Given the description of an element on the screen output the (x, y) to click on. 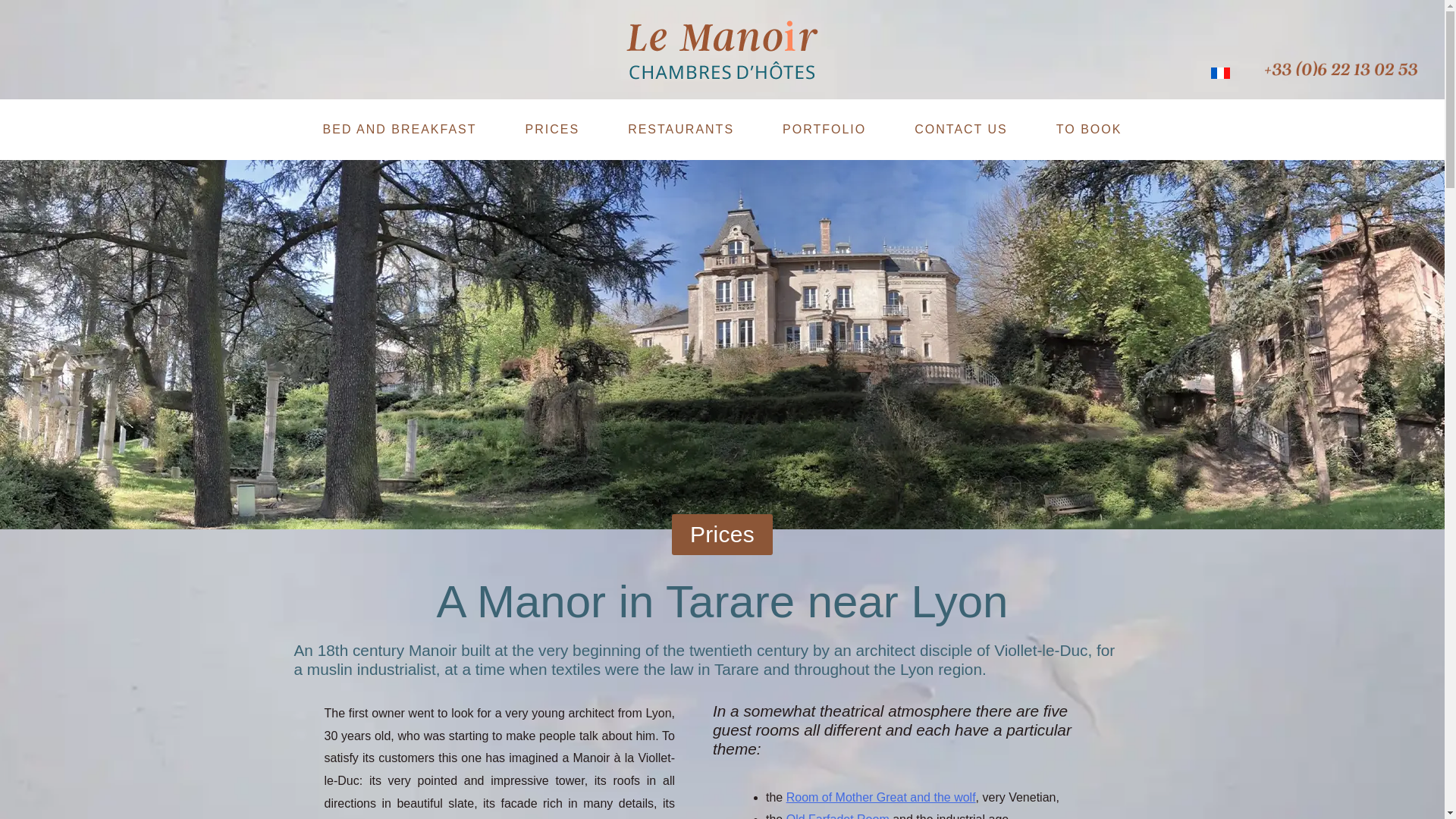
PRICES (552, 129)
Prices (722, 534)
RESTAURANTS (681, 129)
BED AND BREAKFAST (399, 129)
Room of Mother Great and the wolf (880, 797)
CONTACT US (960, 129)
Old Farfadet Room (837, 816)
TO BOOK (1089, 129)
PORTFOLIO (823, 129)
